Given the description of an element on the screen output the (x, y) to click on. 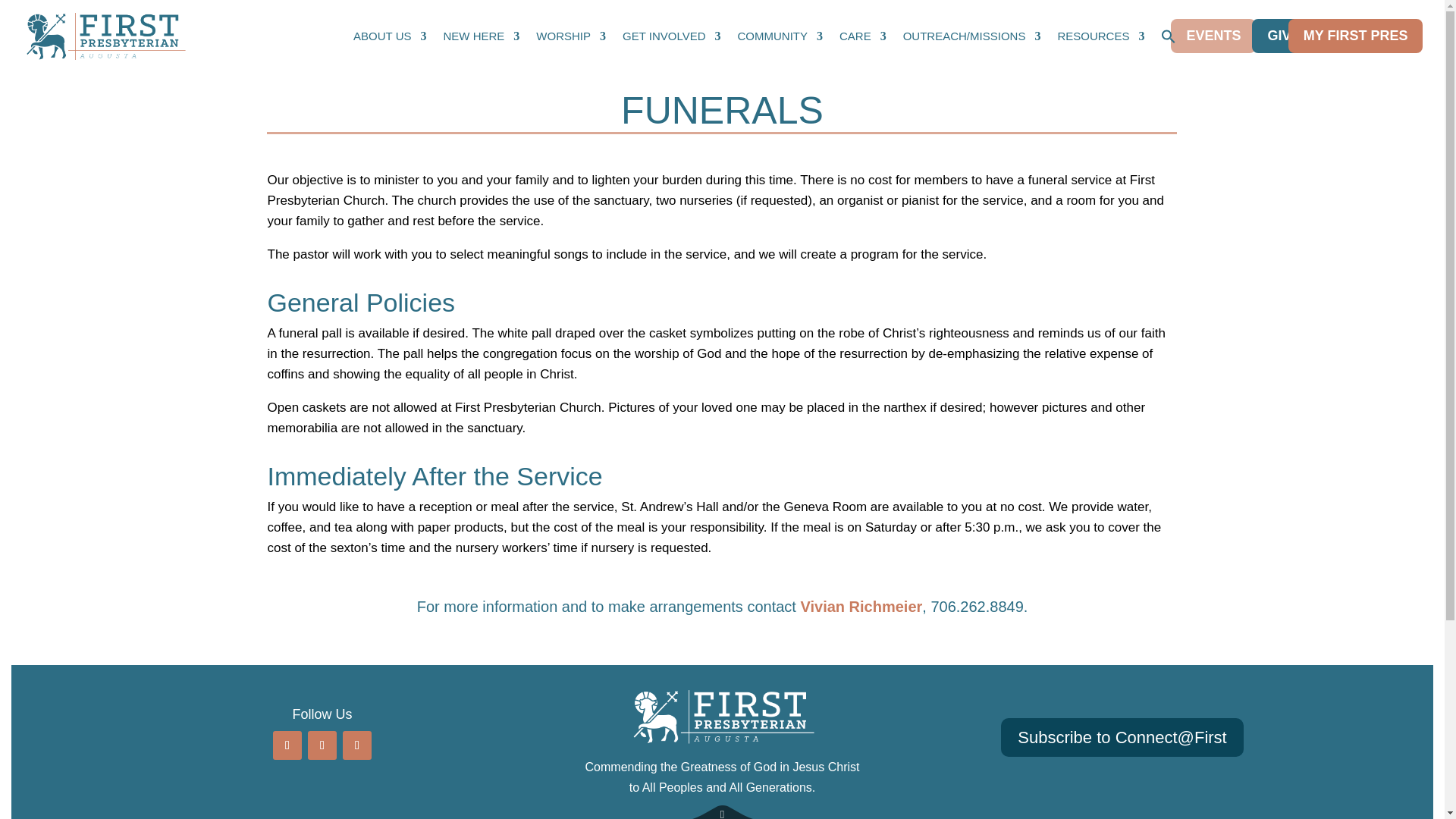
WORSHIP (570, 36)
Follow on Instagram (356, 745)
Follow on Facebook (287, 745)
Follow on Youtube (321, 745)
Arrow BG (721, 812)
GET INVOLVED (671, 36)
ABOUT US (389, 36)
COMMUNITY (781, 36)
NEW HERE (481, 36)
